Given the description of an element on the screen output the (x, y) to click on. 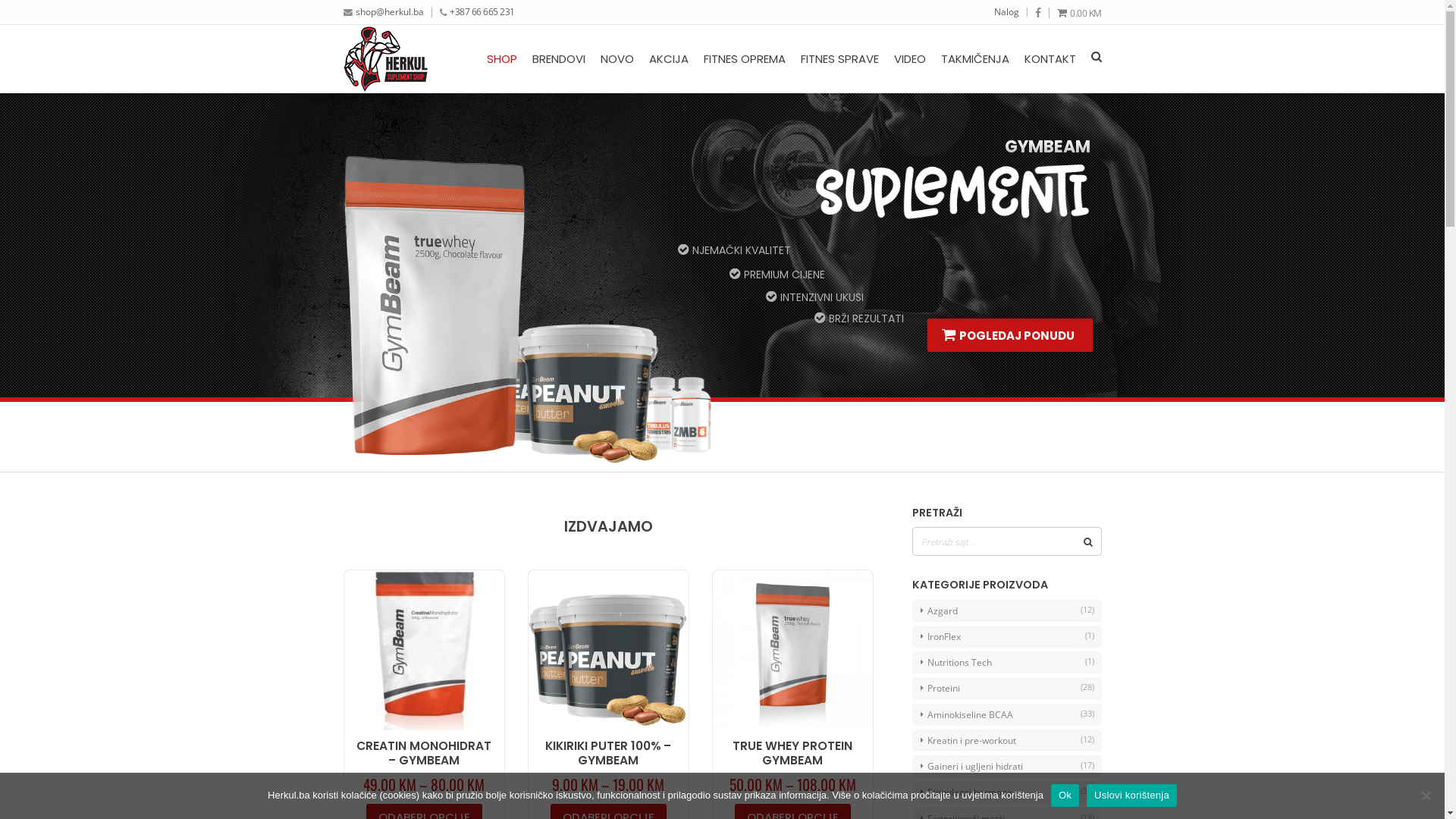
FITNES OPREMA Element type: text (744, 59)
Nutritions Tech Element type: text (1006, 662)
IronFlex Element type: text (1006, 636)
Azgard Element type: text (1006, 610)
Facebook Element type: hover (1037, 12)
Aminokiseline BCAA Element type: text (1006, 714)
Gaineri i ugljeni hidrati Element type: text (1006, 766)
Herkul.ba Element type: hover (384, 58)
VIDEO Element type: text (908, 59)
+387 66 665 231 Element type: text (481, 11)
No Element type: hover (1425, 795)
shop@herkul.ba Element type: text (388, 11)
Proteini Element type: text (1006, 688)
Stimulansi hormona Element type: text (1006, 792)
NOVO Element type: text (617, 59)
Ok Element type: text (1065, 795)
KONTAKT Element type: text (1049, 59)
AKCIJA Element type: text (668, 59)
Nalog Element type: text (1005, 11)
Kreatin i pre-workout Element type: text (1006, 740)
SHOP Element type: text (501, 59)
FITNES SPRAVE Element type: text (839, 59)
BRENDOVI Element type: text (558, 59)
0.00 KM Element type: text (1079, 12)
